Given the description of an element on the screen output the (x, y) to click on. 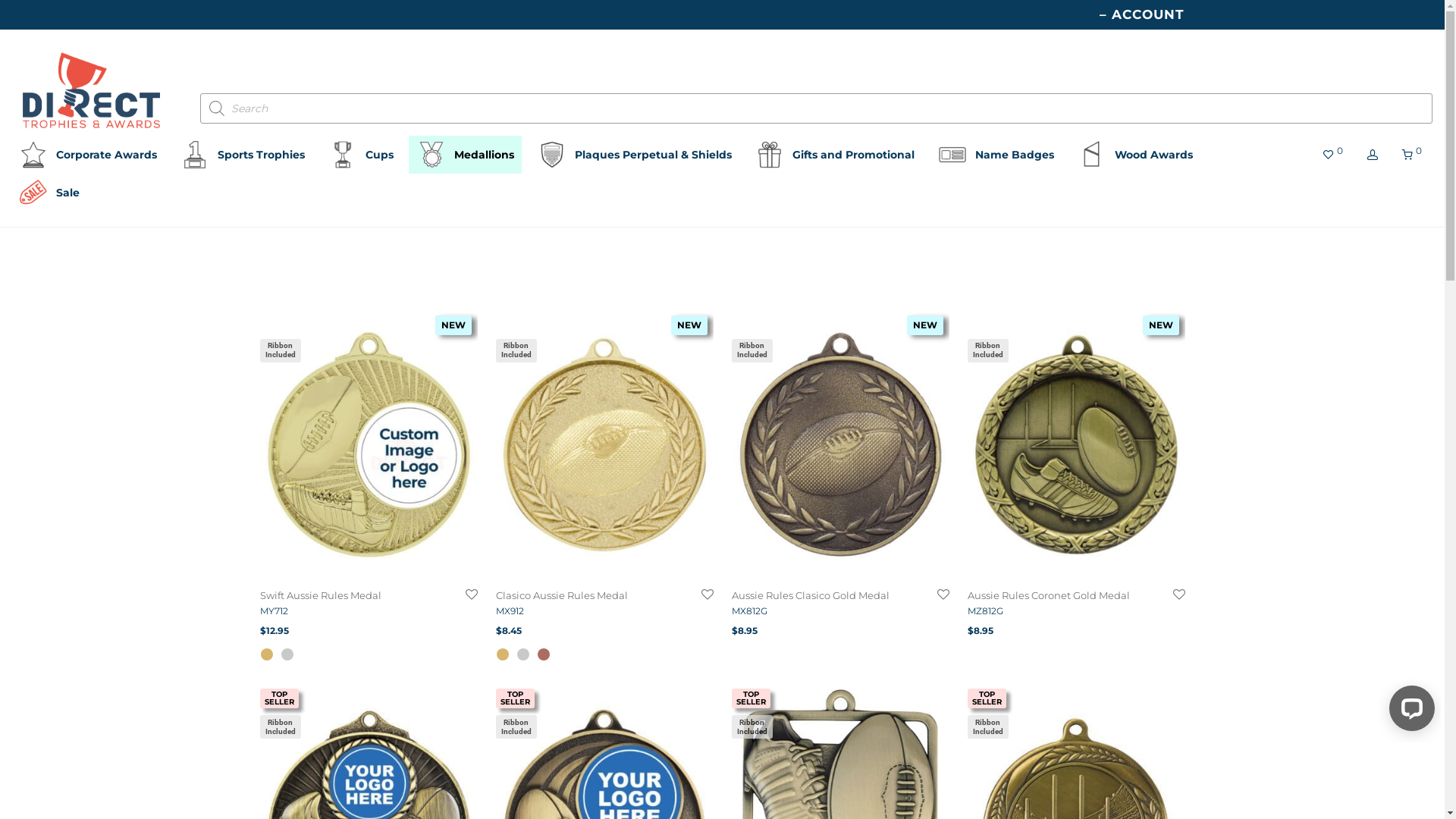
LiveChat chat widget Element type: hover (1408, 711)
Aussie Rules Coronet Gold Medal Element type: text (1048, 595)
NEW
Ribbon Included Element type: text (839, 444)
Name Badges Element type: text (995, 154)
Sports Trophies Element type: text (242, 154)
Aussie Rules Clasico Gold Medal Element type: text (809, 595)
Swift Aussie Rules Medal Element type: text (319, 595)
NEW
Ribbon Included Element type: text (604, 444)
Plaques Perpetual & Shields Element type: text (634, 154)
Add to Wishlist Element type: hover (469, 594)
Corporate Awards Element type: text (87, 154)
NEW
Ribbon Included Element type: text (1076, 444)
Add to Wishlist Element type: hover (706, 594)
Wood Awards Element type: text (1134, 154)
Medallions Element type: text (464, 154)
0 Element type: text (1333, 154)
NEW
Ribbon Included Element type: text (367, 444)
Sale Element type: text (48, 192)
Gifts and Promotional Element type: text (834, 154)
Clasico Aussie Rules Medal Element type: text (561, 595)
0 Element type: text (1412, 154)
Add to Wishlist Element type: hover (1177, 594)
Add to Wishlist Element type: hover (941, 594)
Cups Element type: text (360, 154)
